Given the description of an element on the screen output the (x, y) to click on. 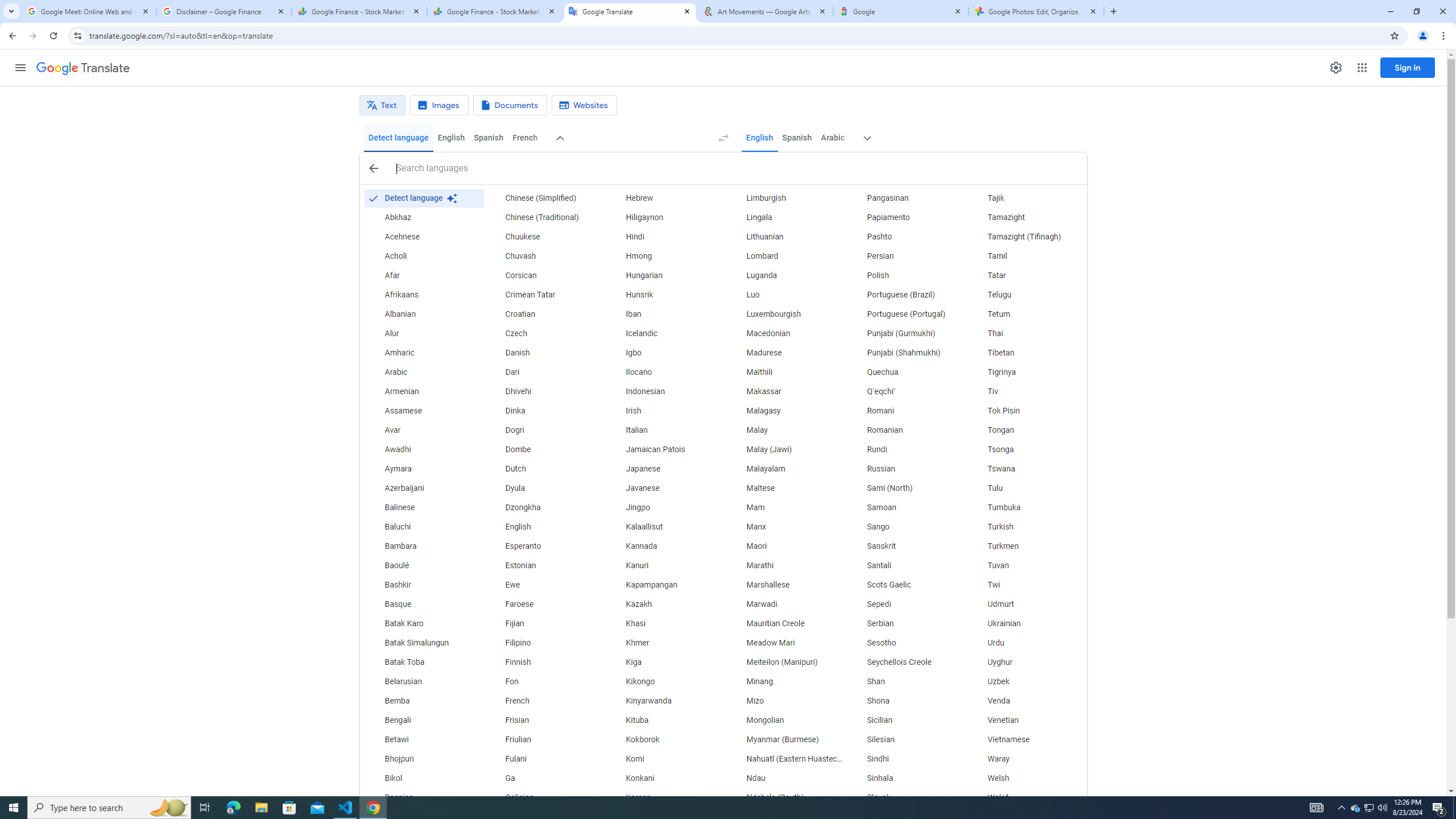
Dombe (544, 449)
Tsonga (1026, 449)
Website translation (584, 105)
Tamil (1026, 256)
More source languages (560, 137)
Dinka (544, 411)
Friulian (544, 739)
Tumbuka (1026, 507)
Aymara (423, 469)
Hindi (665, 236)
Bemba (423, 701)
Maithili (785, 372)
Chuukese (544, 236)
